Given the description of an element on the screen output the (x, y) to click on. 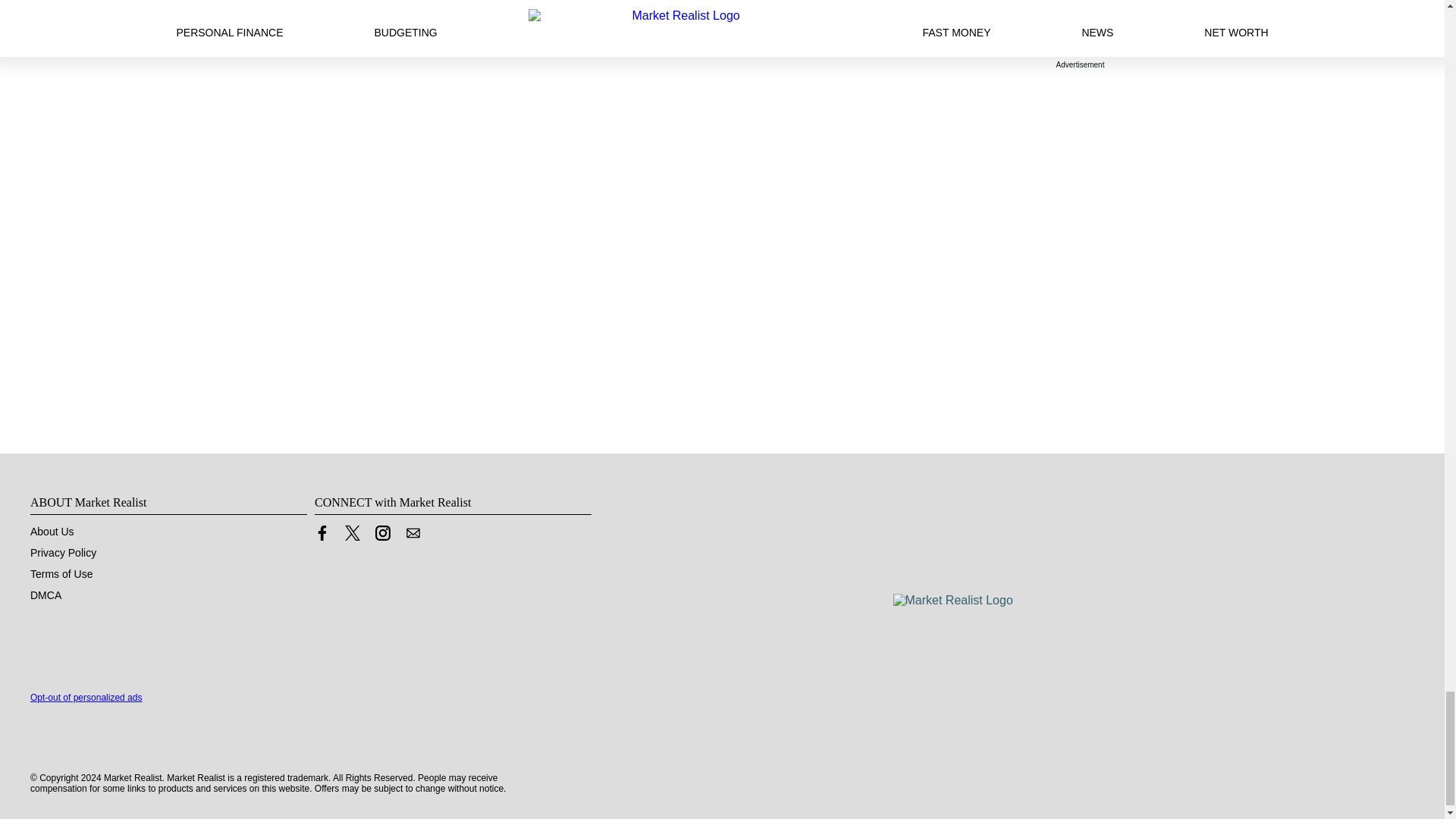
Contact us by Email (413, 536)
DMCA (45, 594)
Link to Instagram (382, 532)
Link to X (352, 536)
Link to Facebook (322, 532)
Terms of Use (61, 573)
About Us (52, 531)
Privacy Policy (63, 552)
Link to X (352, 532)
Link to Instagram (382, 536)
Contact us by Email (413, 532)
DMCA (45, 594)
Link to Facebook (322, 536)
Terms of Use (61, 573)
Privacy Policy (63, 552)
